Given the description of an element on the screen output the (x, y) to click on. 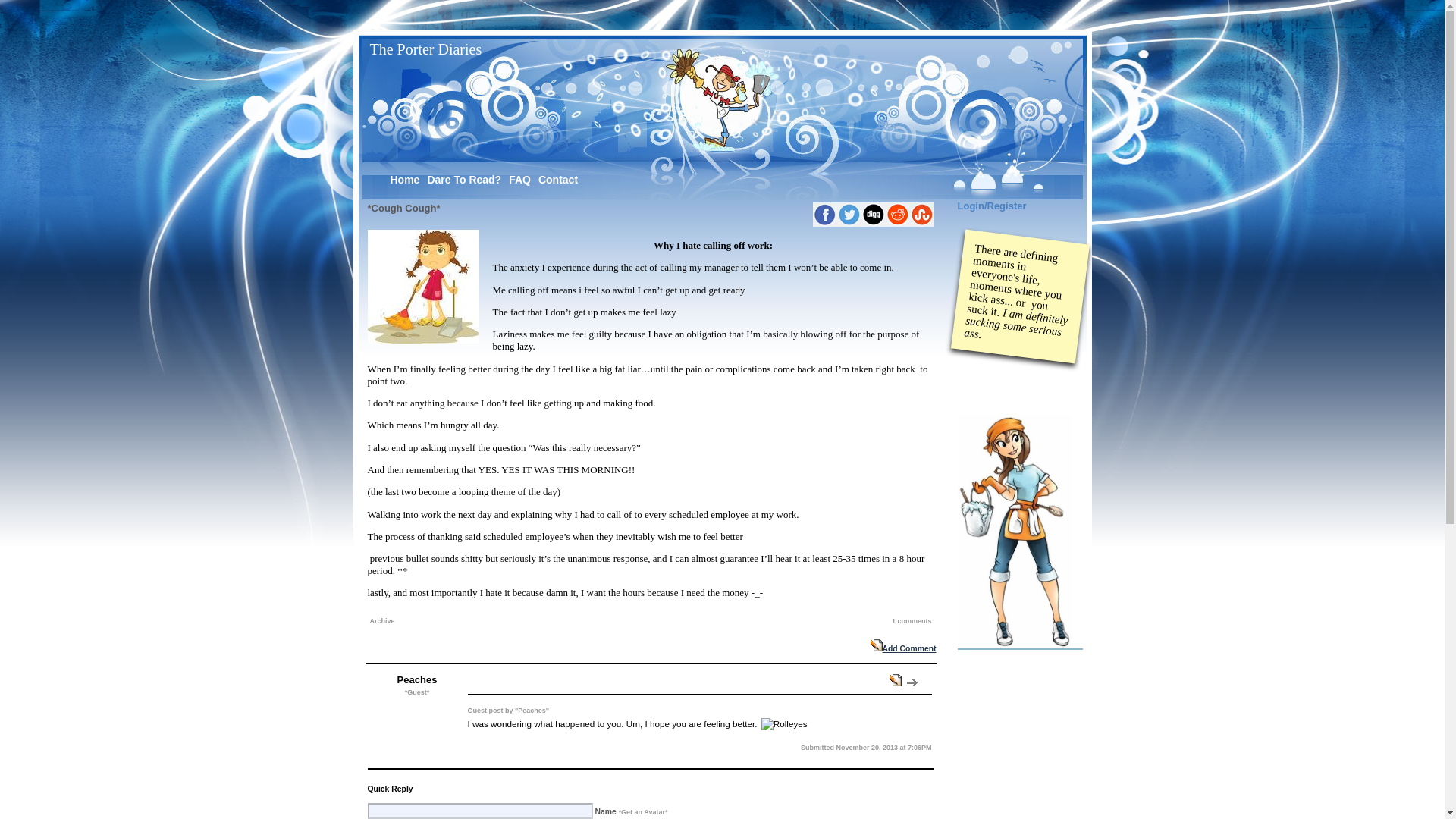
Add Comment (903, 648)
Reddit (897, 214)
StumbleUpon (922, 214)
FaceBook (824, 214)
Dare To Read? (463, 179)
Advertisement (1133, 391)
Quote (895, 680)
Digg This (873, 214)
FAQ (519, 179)
Contact (558, 179)
1 comments (911, 620)
Tweet This (849, 214)
Reply (912, 682)
The Porter Diaries (425, 48)
Archive (381, 620)
